Given the description of an element on the screen output the (x, y) to click on. 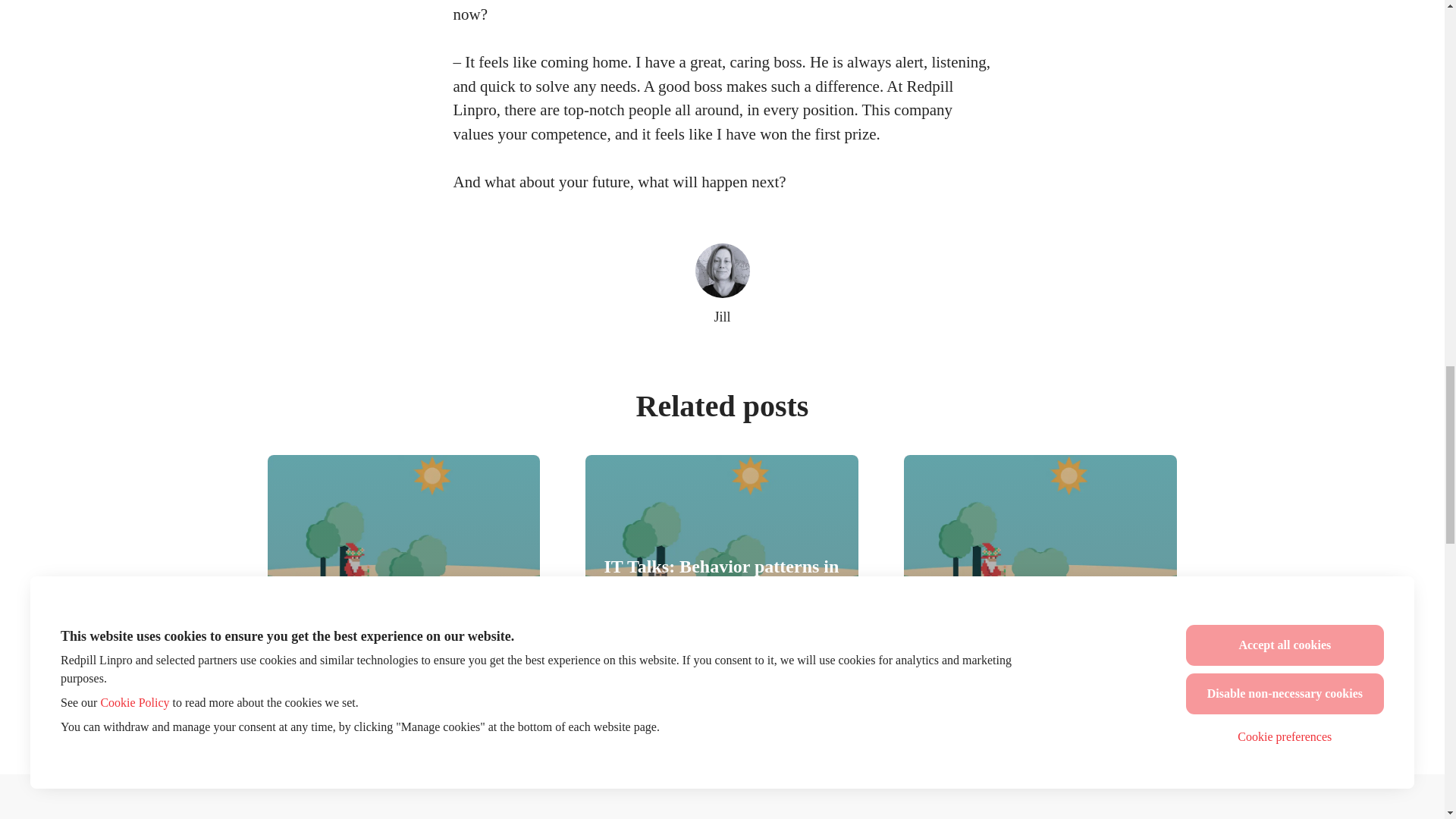
More posts (722, 692)
Knowledge sharing brings a team together (1040, 546)
Competence development: Always in focus (403, 546)
